Given the description of an element on the screen output the (x, y) to click on. 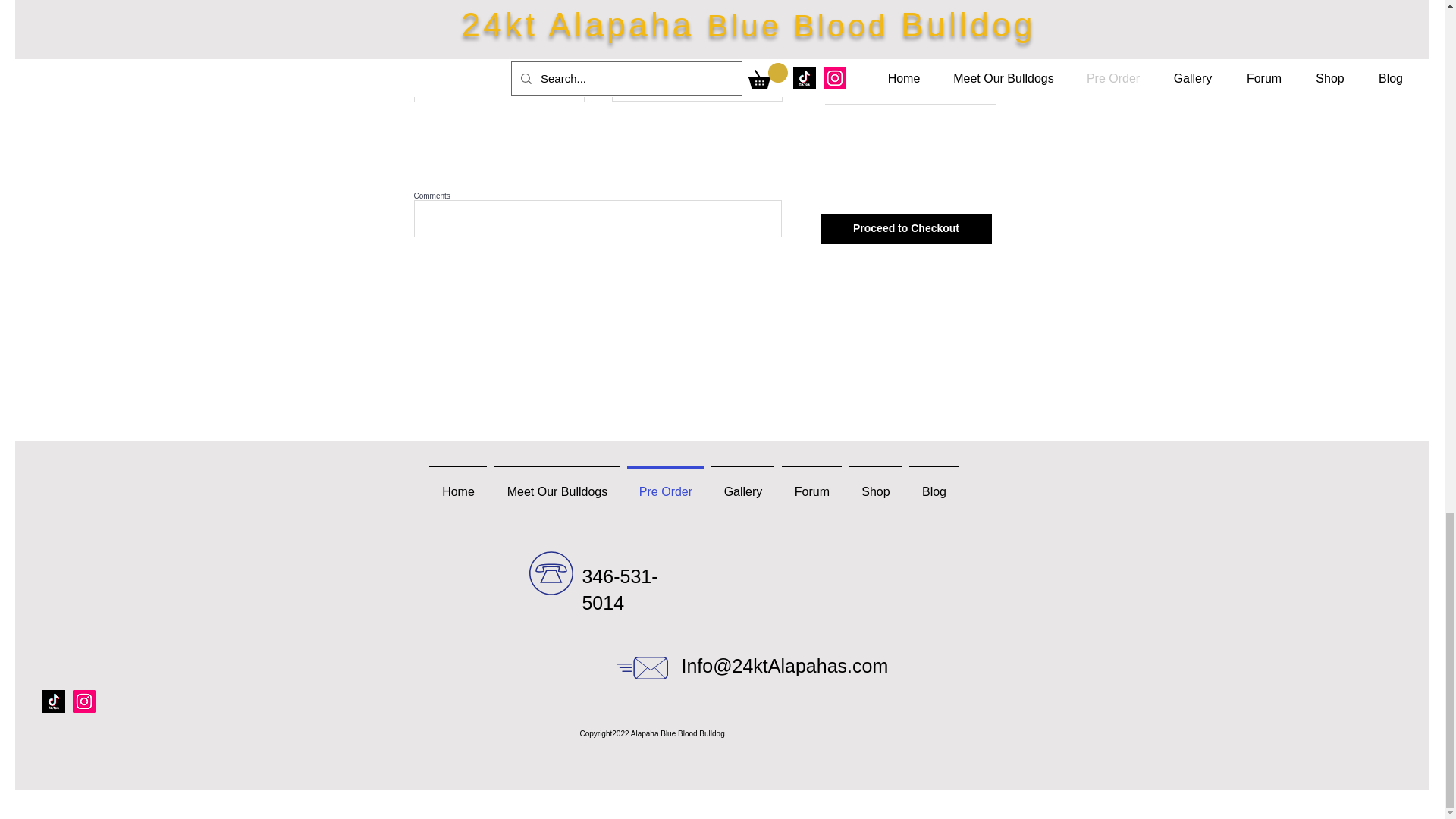
Gallery (742, 485)
Home (457, 485)
Proceed to Checkout (906, 228)
Pre Order (665, 485)
Meet Our Bulldogs (556, 485)
Forum (811, 485)
Blog (933, 485)
Shop (875, 485)
